Given the description of an element on the screen output the (x, y) to click on. 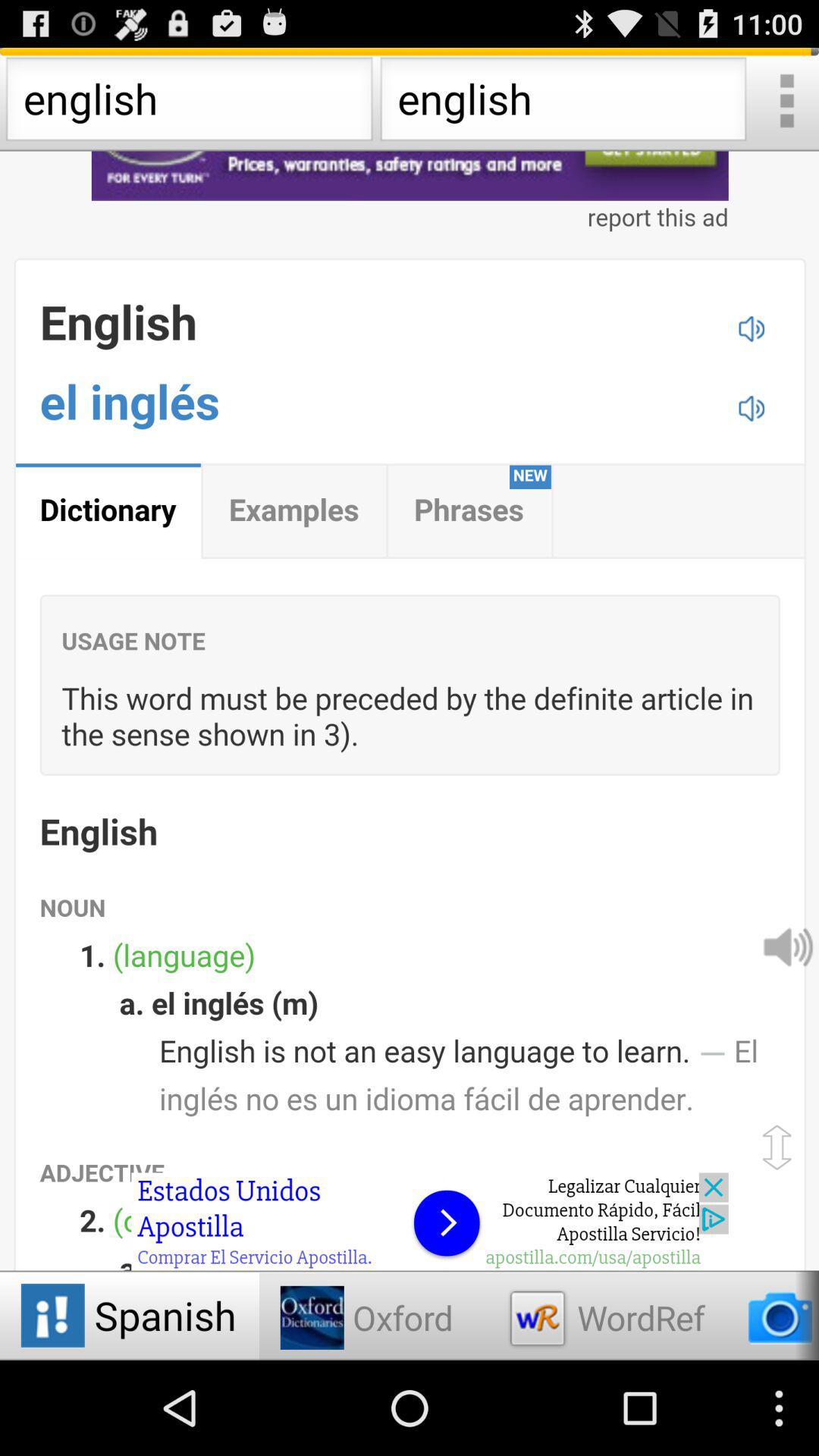
go to search (785, 103)
